Given the description of an element on the screen output the (x, y) to click on. 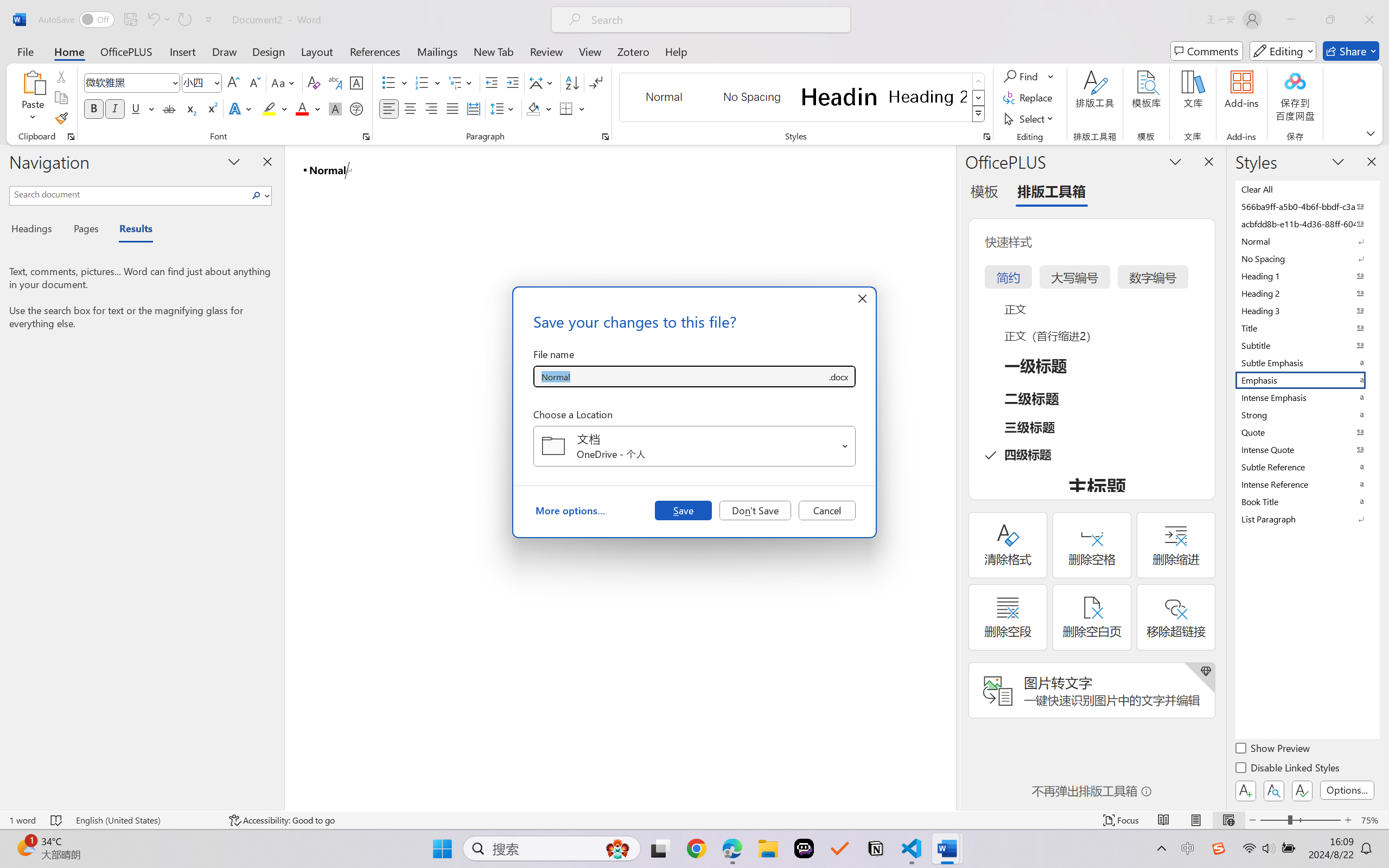
Numbering (428, 82)
Zoom In (1348, 819)
Class: Image (1218, 847)
Task Pane Options (1175, 161)
Results (130, 229)
Distributed (473, 108)
Comments (1206, 50)
Find (1022, 75)
Text Effects and Typography (241, 108)
Align Left (388, 108)
References (375, 51)
Google Chrome (696, 848)
